Given the description of an element on the screen output the (x, y) to click on. 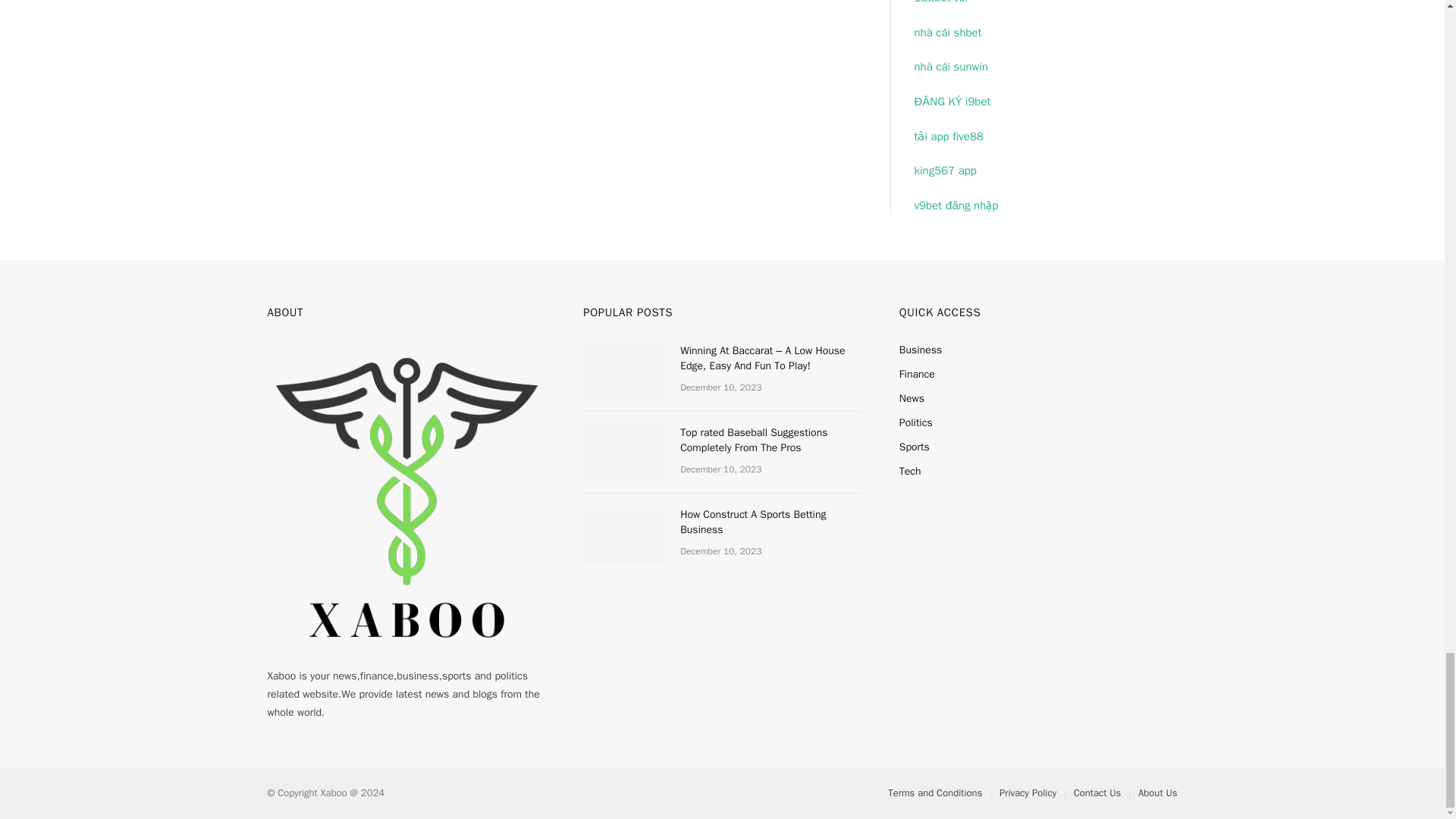
Top rated Baseball Suggestions Completely From The Pros (624, 452)
How Construct A Sports Betting Business (624, 534)
